Given the description of an element on the screen output the (x, y) to click on. 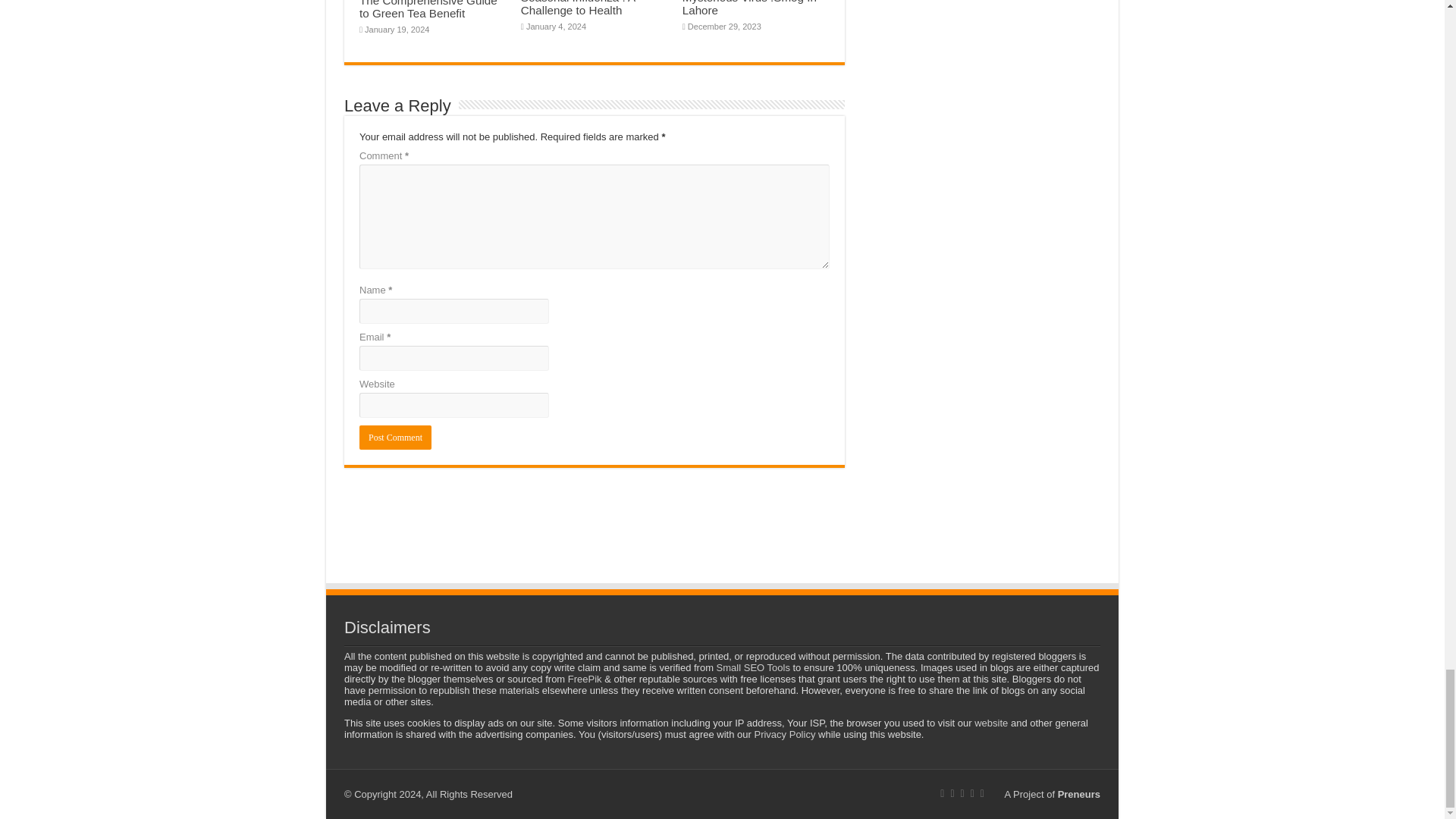
Post Comment (394, 437)
